Given the description of an element on the screen output the (x, y) to click on. 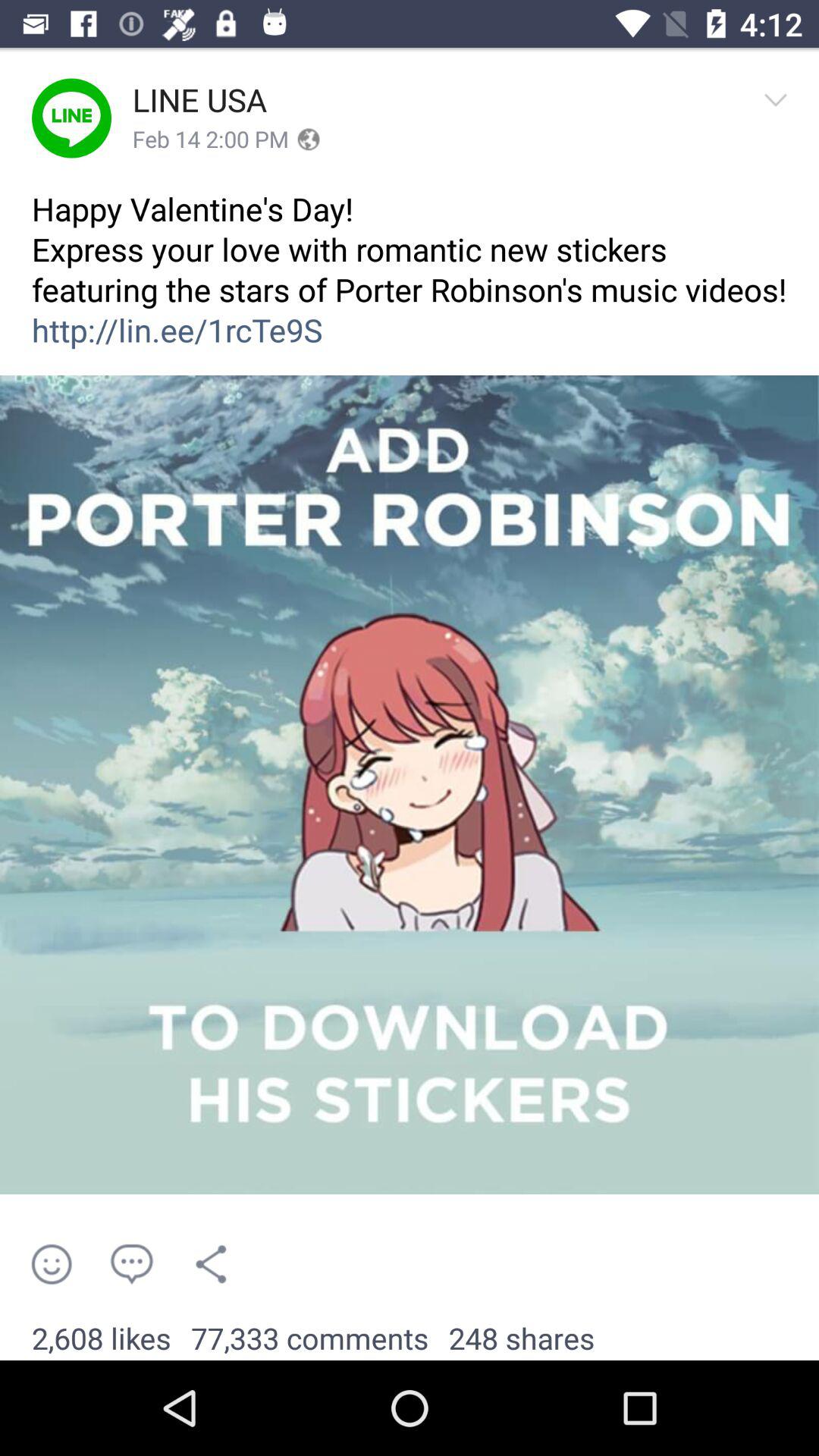
turn on icon above the happy valentine s item (780, 118)
